Given the description of an element on the screen output the (x, y) to click on. 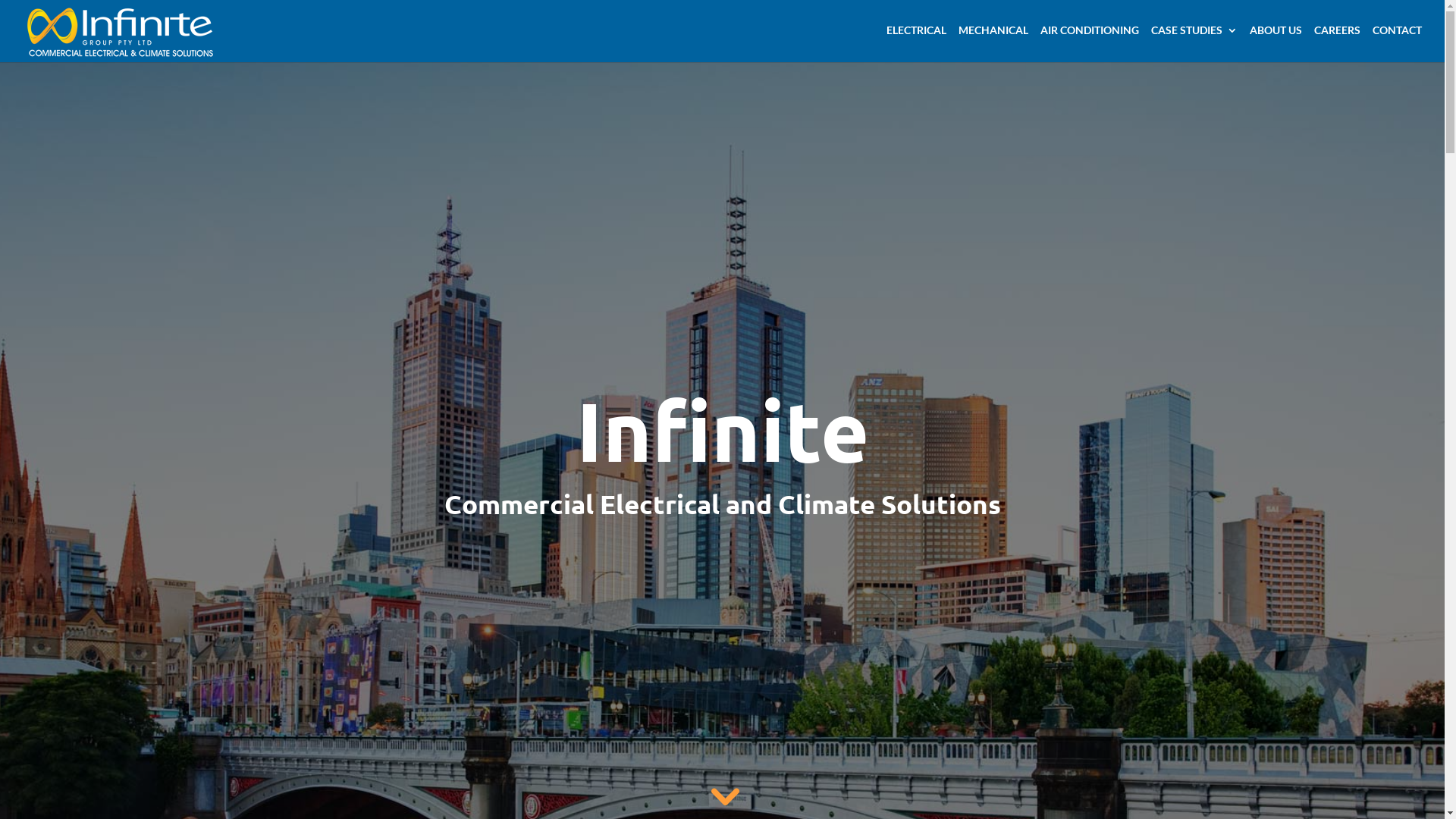
CASE STUDIES Element type: text (1194, 43)
AIR CONDITIONING Element type: text (1089, 43)
CAREERS Element type: text (1337, 43)
ELECTRICAL Element type: text (916, 43)
MECHANICAL Element type: text (993, 43)
CONTACT Element type: text (1396, 43)
ABOUT US Element type: text (1275, 43)
